Given the description of an element on the screen output the (x, y) to click on. 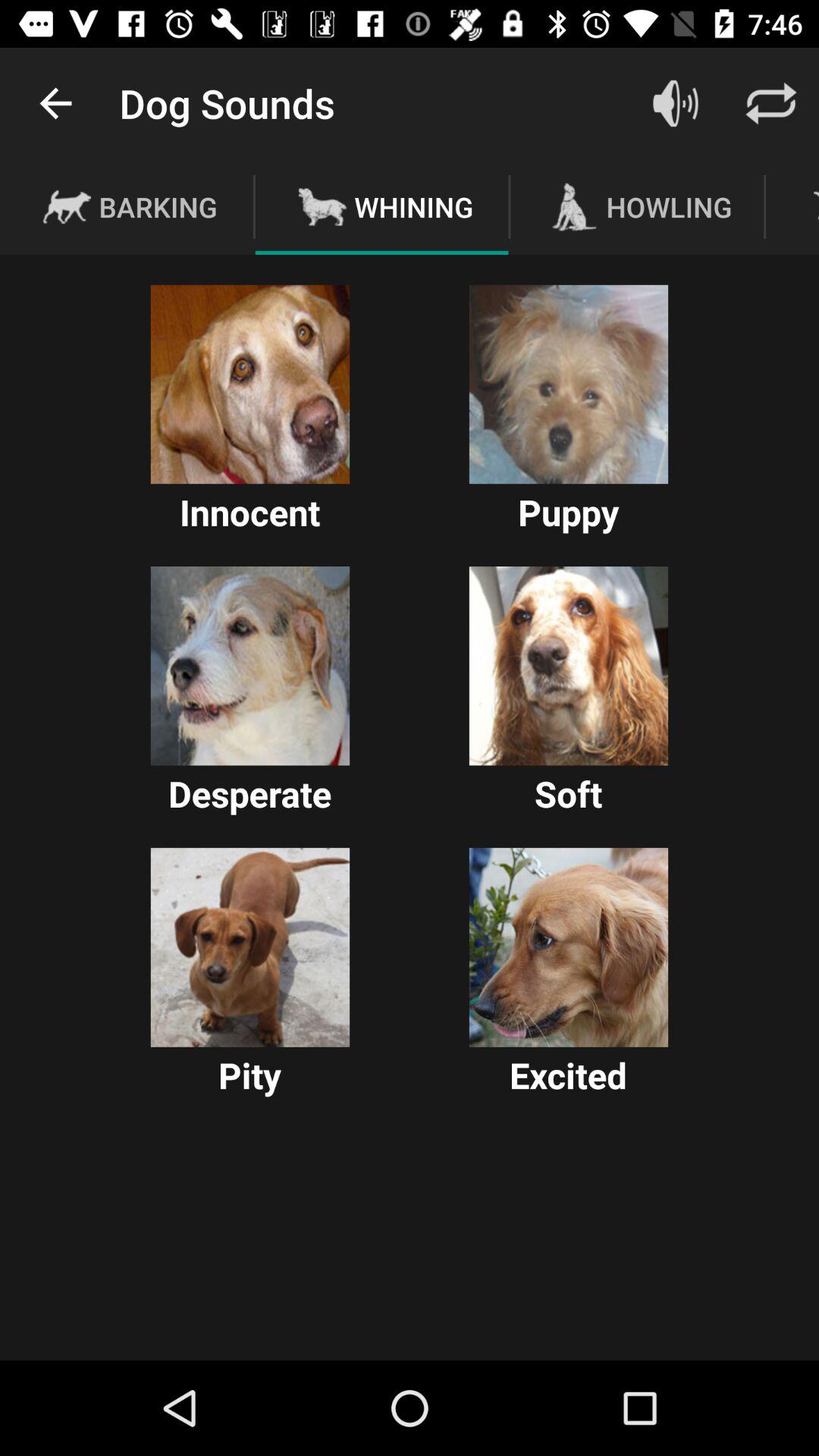
choose this option (249, 384)
